Given the description of an element on the screen output the (x, y) to click on. 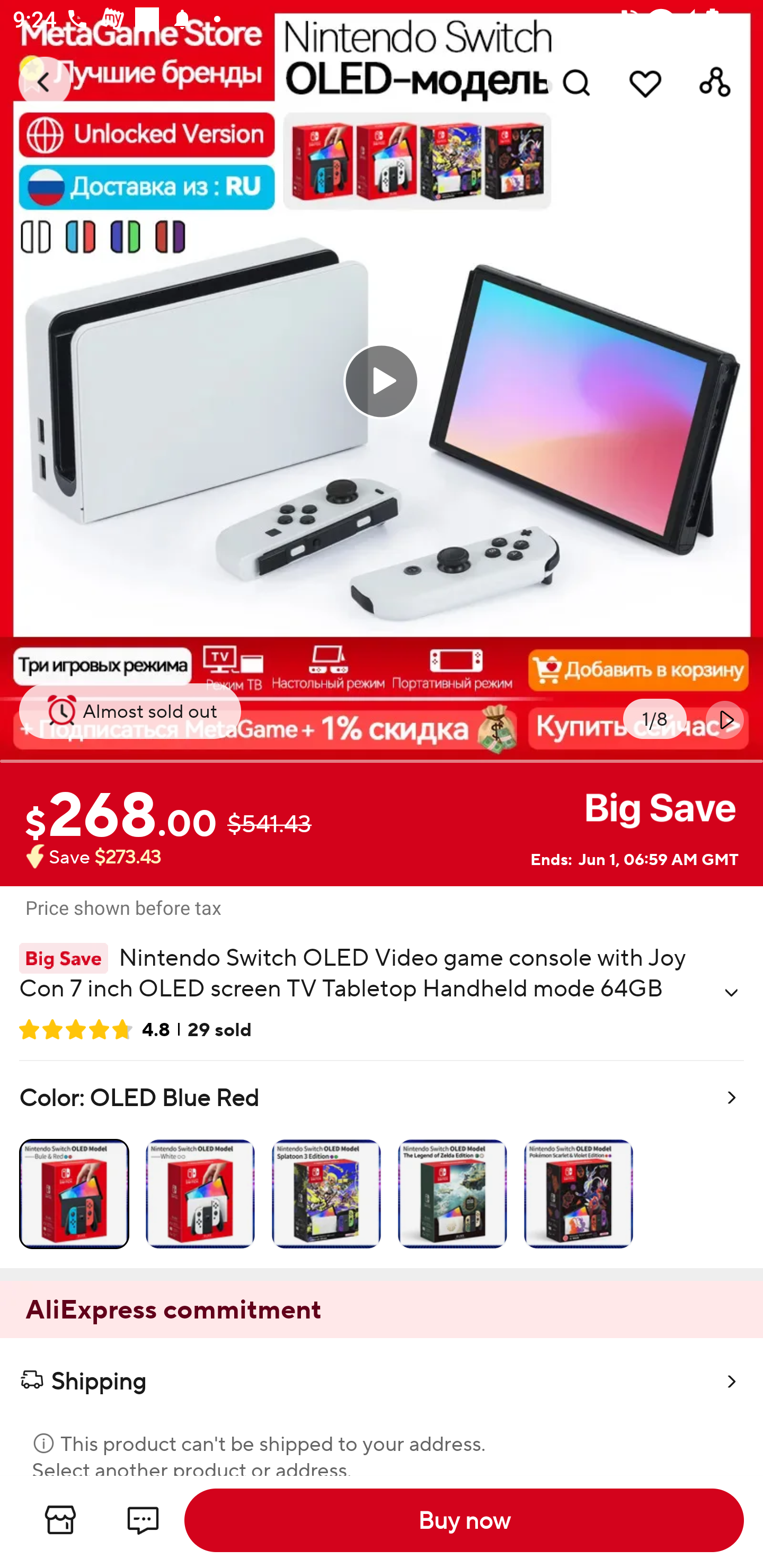
0.0 (381, 381)
Navigate up (44, 82)
 (724, 719)
 (730, 992)
Color: OLED Blue Red  (381, 1164)
Buy now (463, 1520)
